Given the description of an element on the screen output the (x, y) to click on. 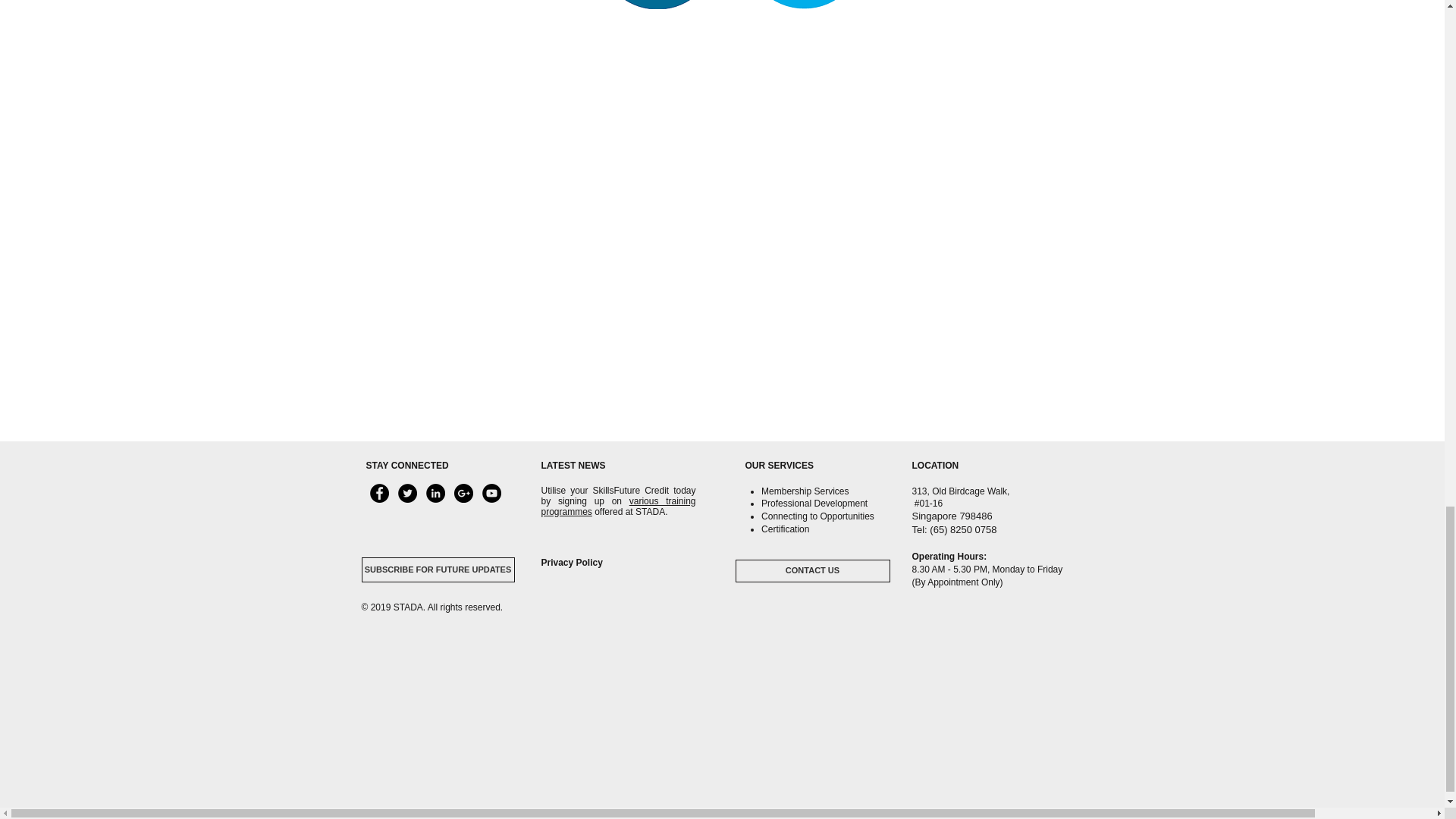
Privacy Policy (571, 562)
Professional Development (814, 502)
various training programmes (618, 506)
Certification (785, 529)
Membership Services (804, 491)
SUBSCRIBE FOR FUTURE UPDATES (437, 569)
Connecting to Opportunities (818, 516)
CONTACT US (812, 570)
